Given the description of an element on the screen output the (x, y) to click on. 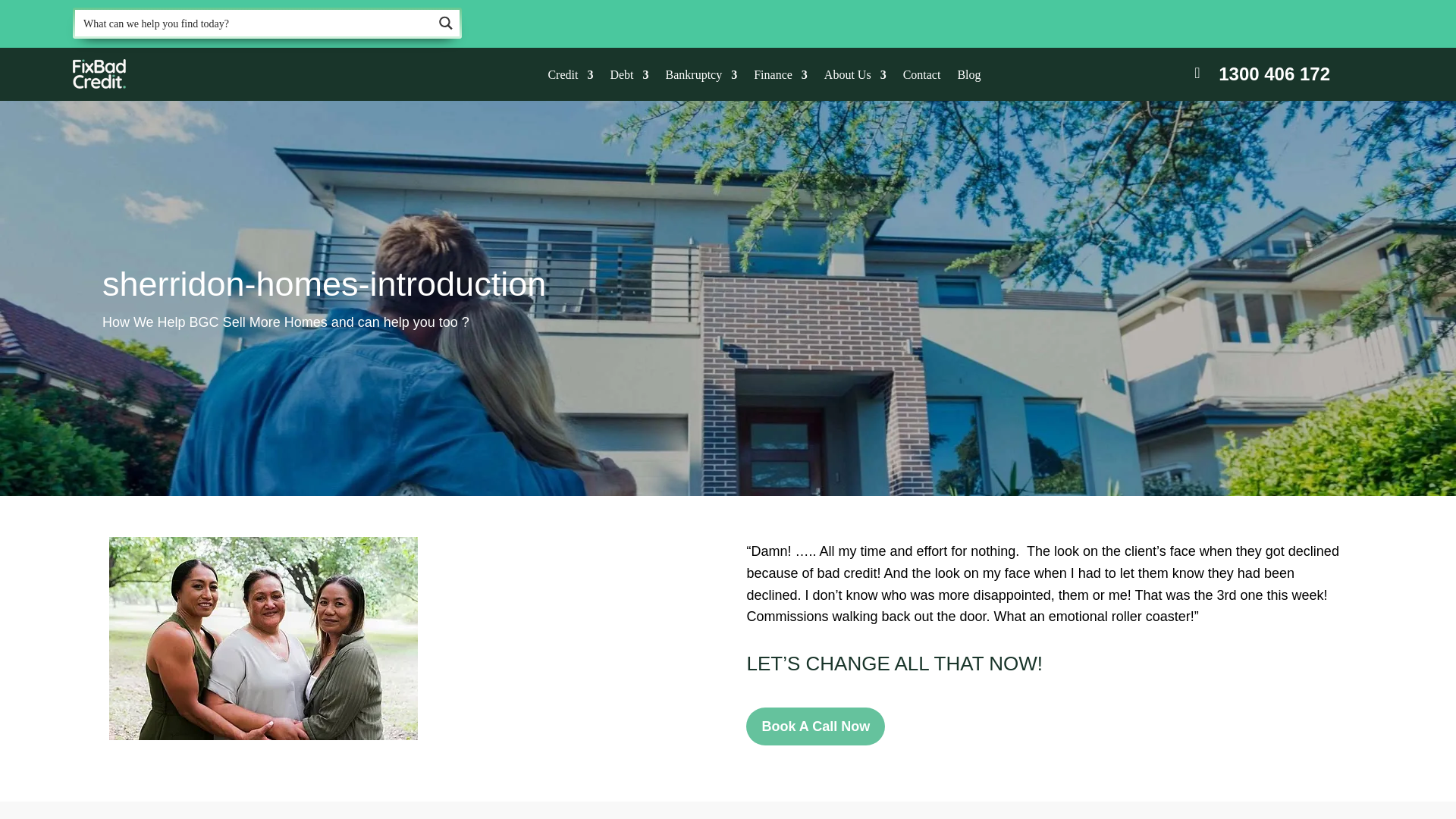
Blog (967, 77)
Finance (781, 77)
Credit (569, 77)
Contact (921, 77)
Book A Call Now (815, 726)
logo (98, 73)
About Us (855, 77)
Bankruptcy (701, 77)
Debt (628, 77)
